Given the description of an element on the screen output the (x, y) to click on. 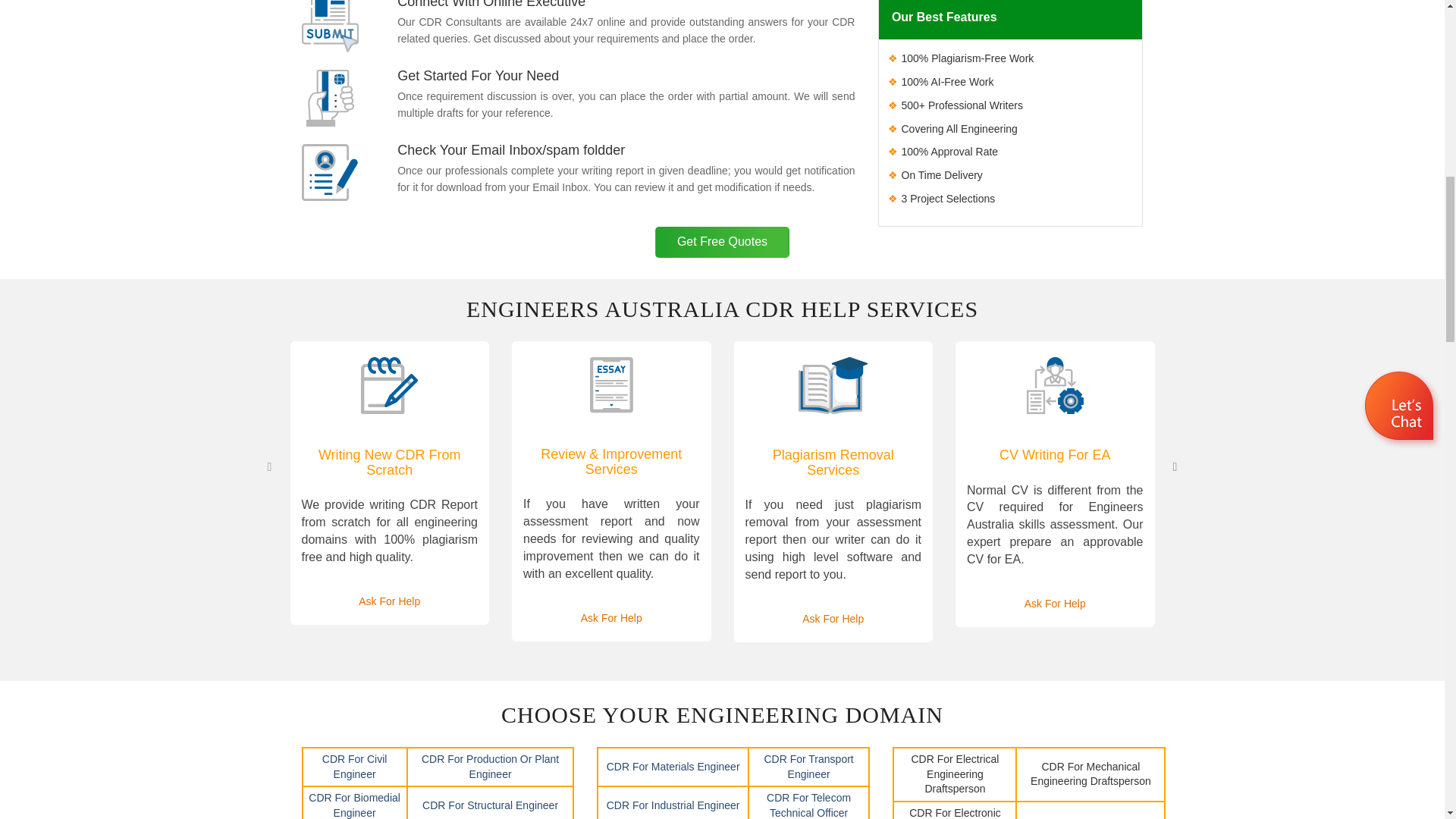
FREE QUOTES (722, 241)
